Given the description of an element on the screen output the (x, y) to click on. 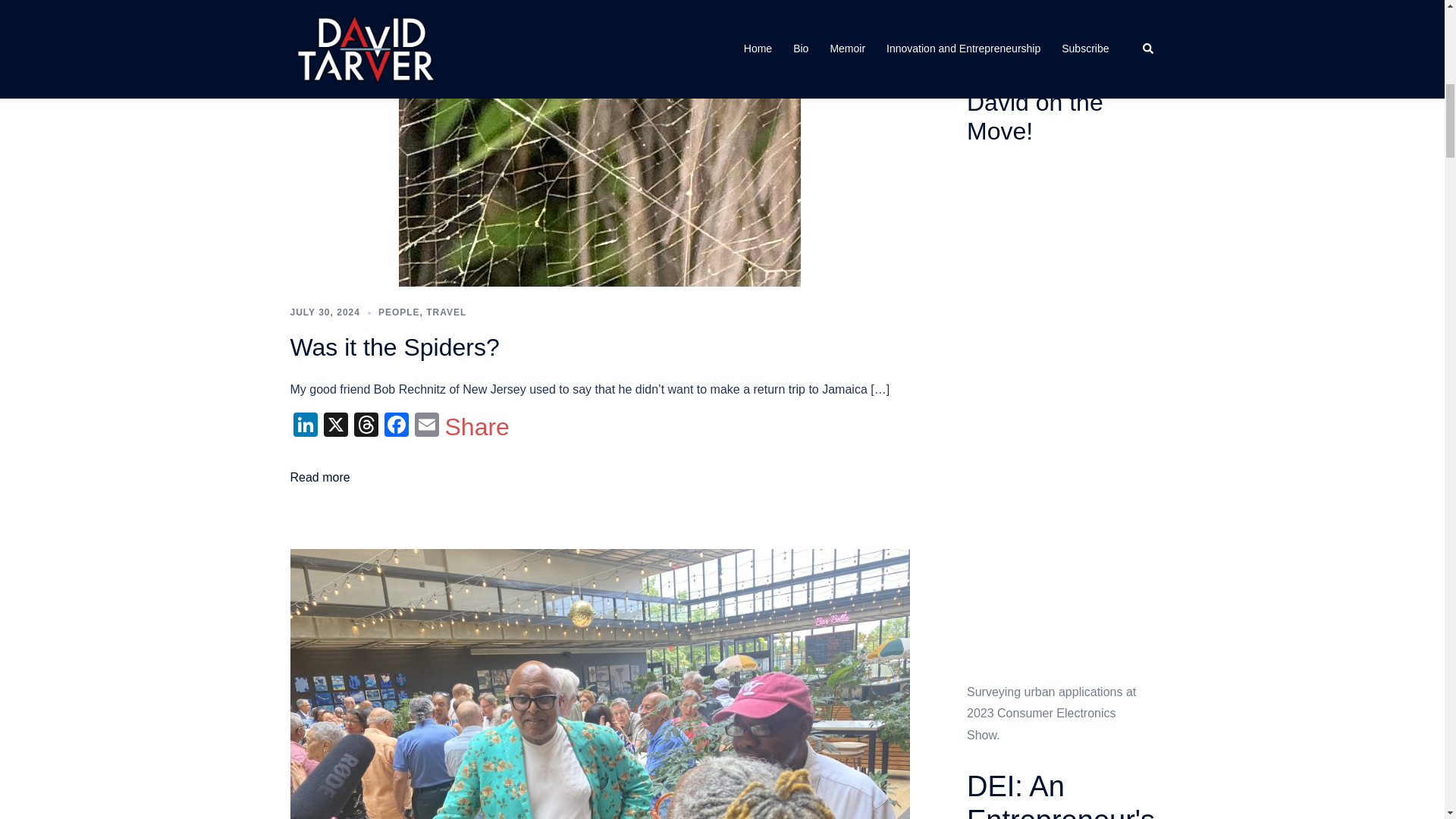
JULY 30, 2024 (324, 312)
Email (425, 426)
TRAVEL (445, 312)
Read more (319, 477)
Share (476, 426)
Email (425, 426)
LinkedIn (304, 426)
PEOPLE (399, 312)
X (335, 426)
Facebook (395, 426)
